Given the description of an element on the screen output the (x, y) to click on. 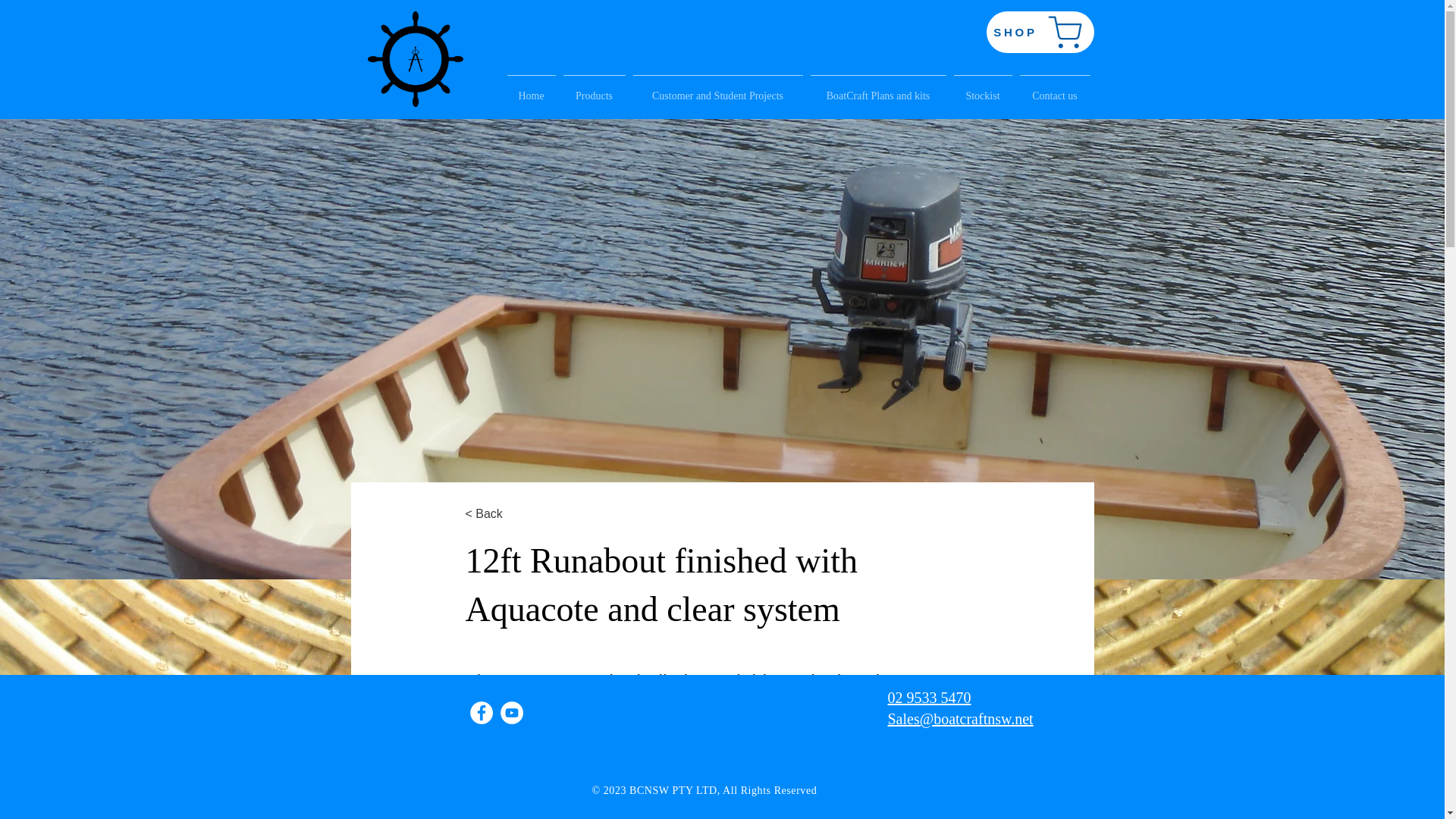
02 9533 5470 (928, 697)
Contact us (1055, 89)
Home (531, 89)
Customer and Student Projects (717, 89)
Stockist (981, 89)
BoatCraft Plans and kits (878, 89)
SHOP (1039, 32)
